Given the description of an element on the screen output the (x, y) to click on. 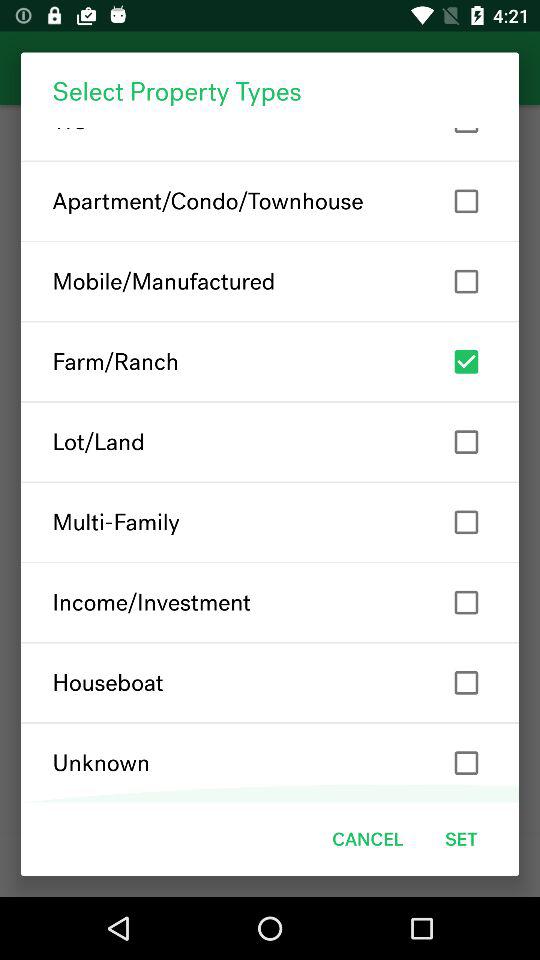
turn off item below the apartment/condo/townhouse item (270, 281)
